Given the description of an element on the screen output the (x, y) to click on. 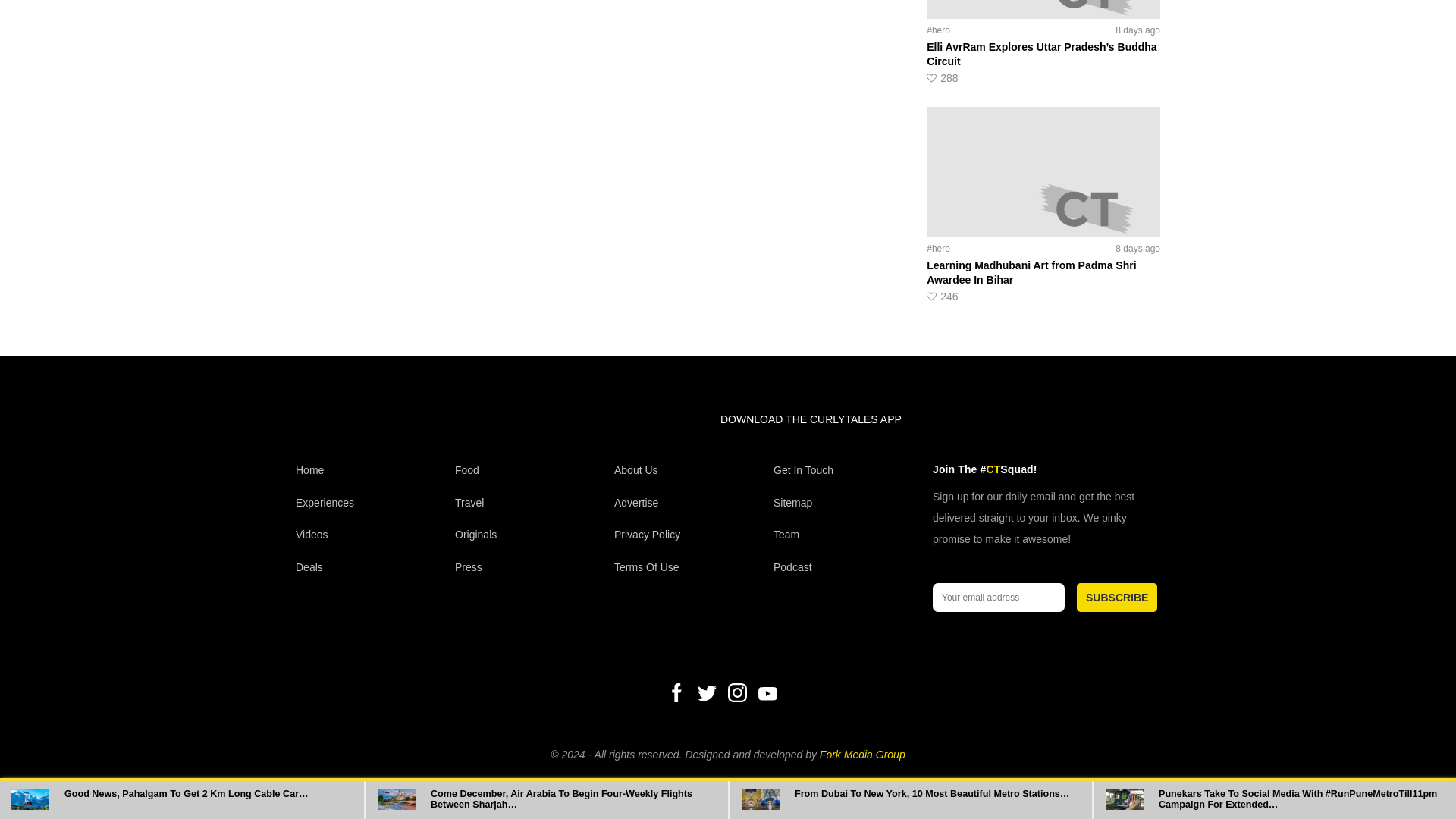
Subscribe (1117, 597)
